Given the description of an element on the screen output the (x, y) to click on. 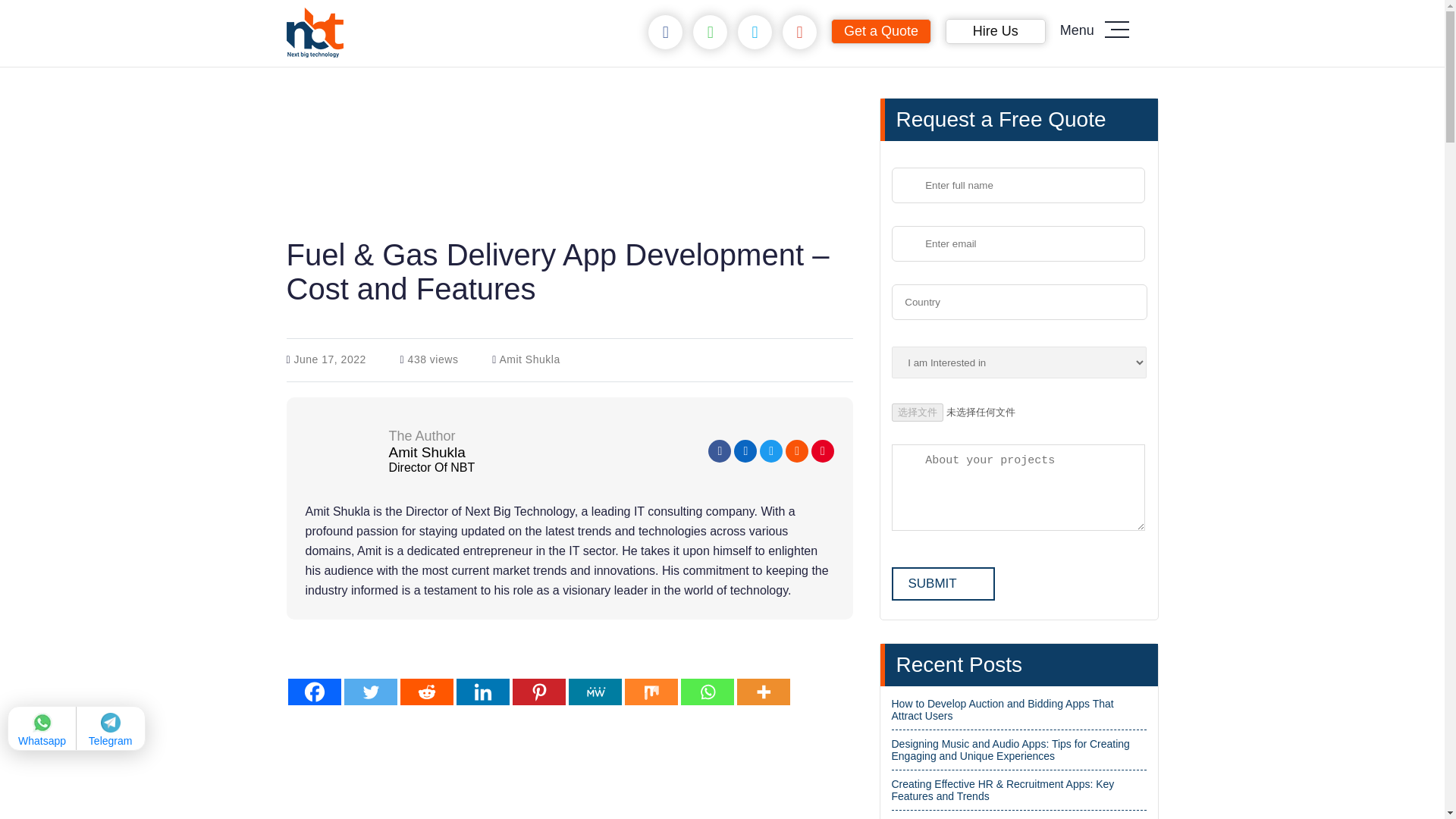
Get a Quote (881, 30)
SUBMIT (942, 583)
Hire Us (994, 30)
Get a Quote (881, 30)
Hire Us (994, 30)
